Given the description of an element on the screen output the (x, y) to click on. 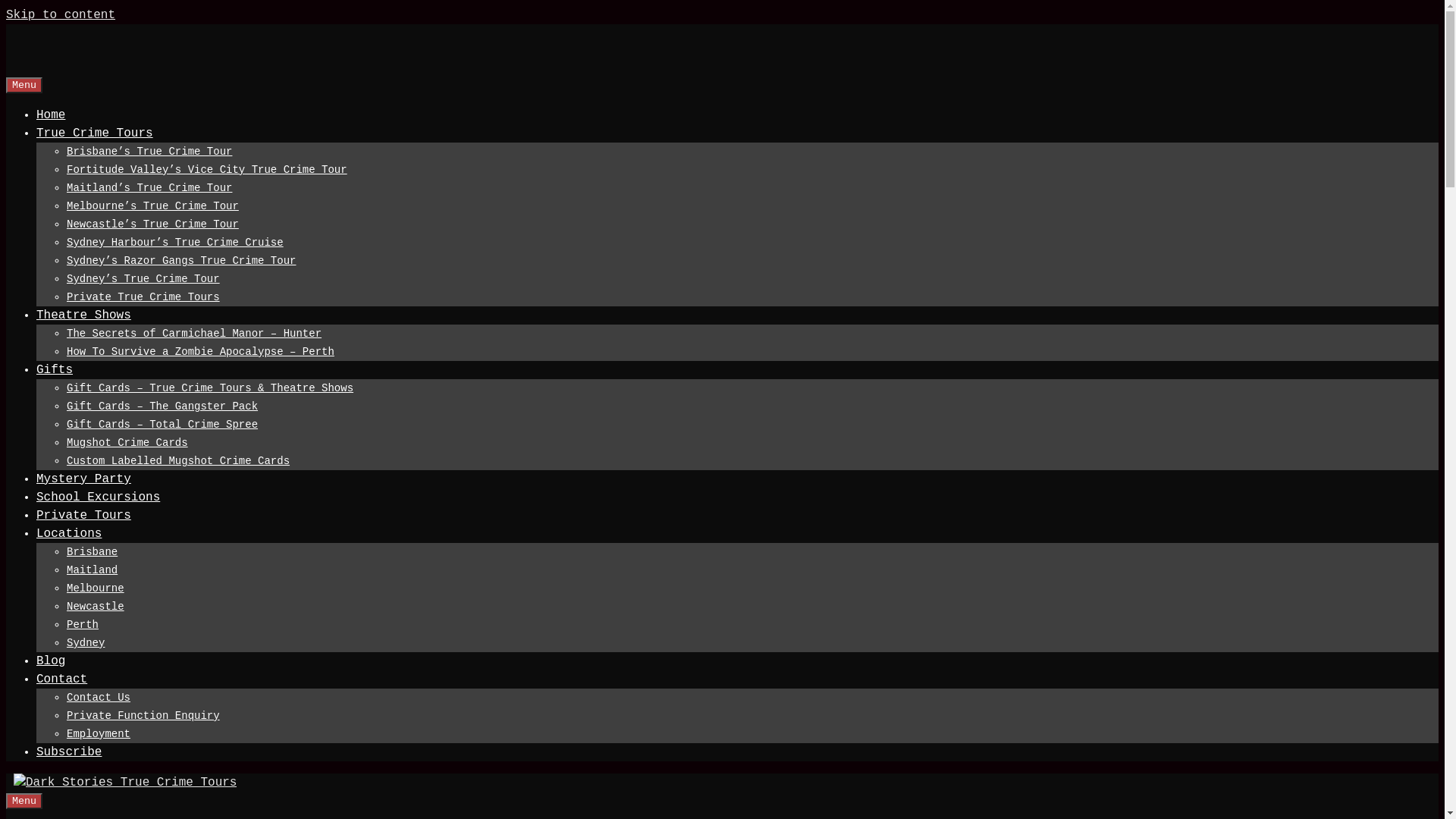
Blog Element type: text (1135, 22)
Locations Element type: text (1048, 22)
Contact Element type: text (1214, 22)
Theatre Shows Element type: text (441, 22)
Private Tours Element type: text (930, 22)
Mystery Party Element type: text (657, 22)
School Excursions Element type: text (794, 22)
Gifts Element type: text (553, 22)
Home Element type: text (181, 22)
Dark Stories True Crime Tours Element type: hover (41, 66)
Dark Stories True Crime Tours Element type: hover (124, 782)
True Crime Tours Element type: text (291, 22)
